Given the description of an element on the screen output the (x, y) to click on. 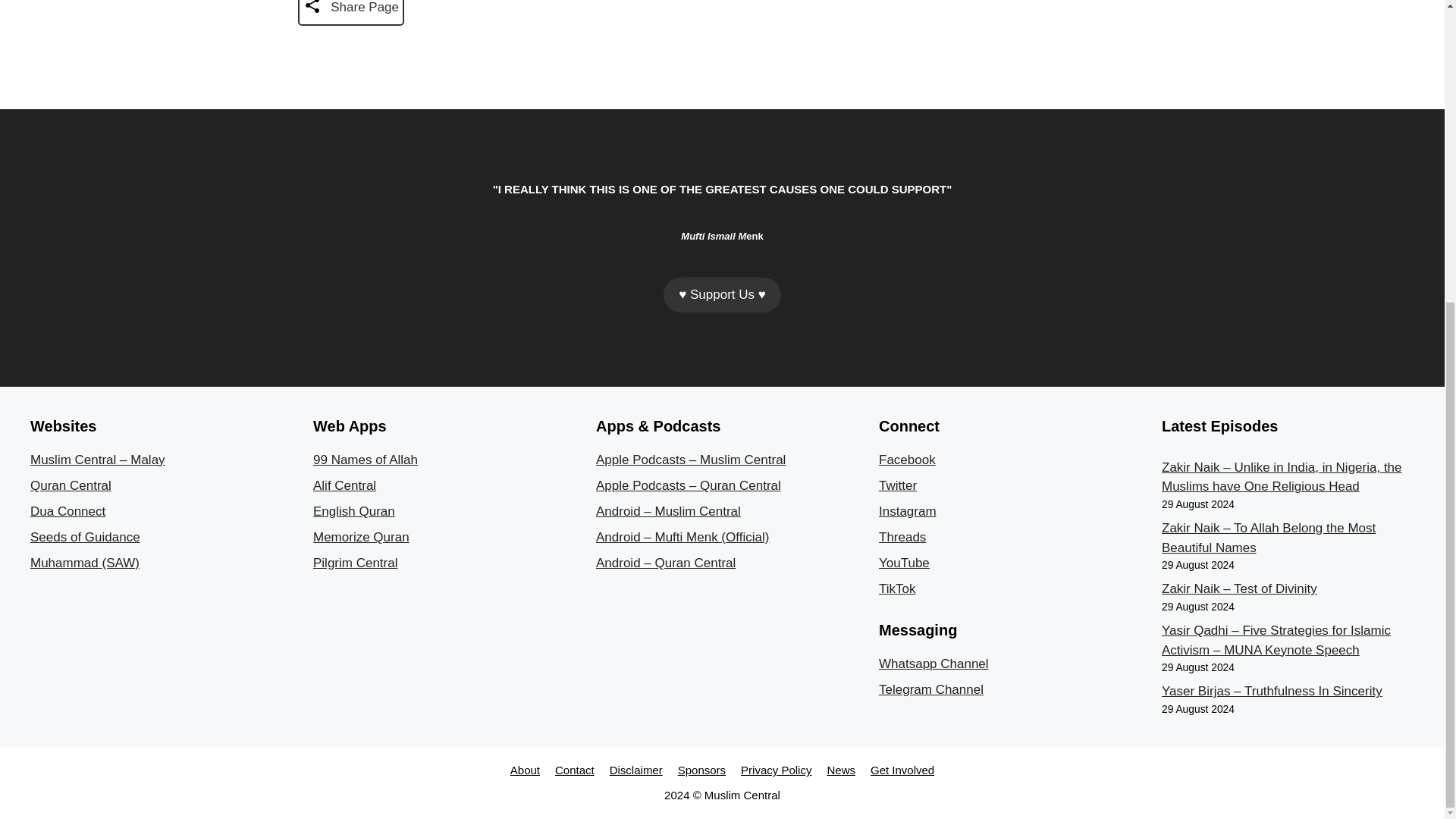
Dua Connect (67, 511)
Facebook (907, 459)
Pilgrim Central (355, 563)
English Quran (353, 511)
Seeds of Guidance (84, 536)
Twitter (898, 485)
Alif Central (344, 485)
Memorize Quran (361, 536)
Quran Central (71, 485)
99 Names of Allah (365, 459)
